Given the description of an element on the screen output the (x, y) to click on. 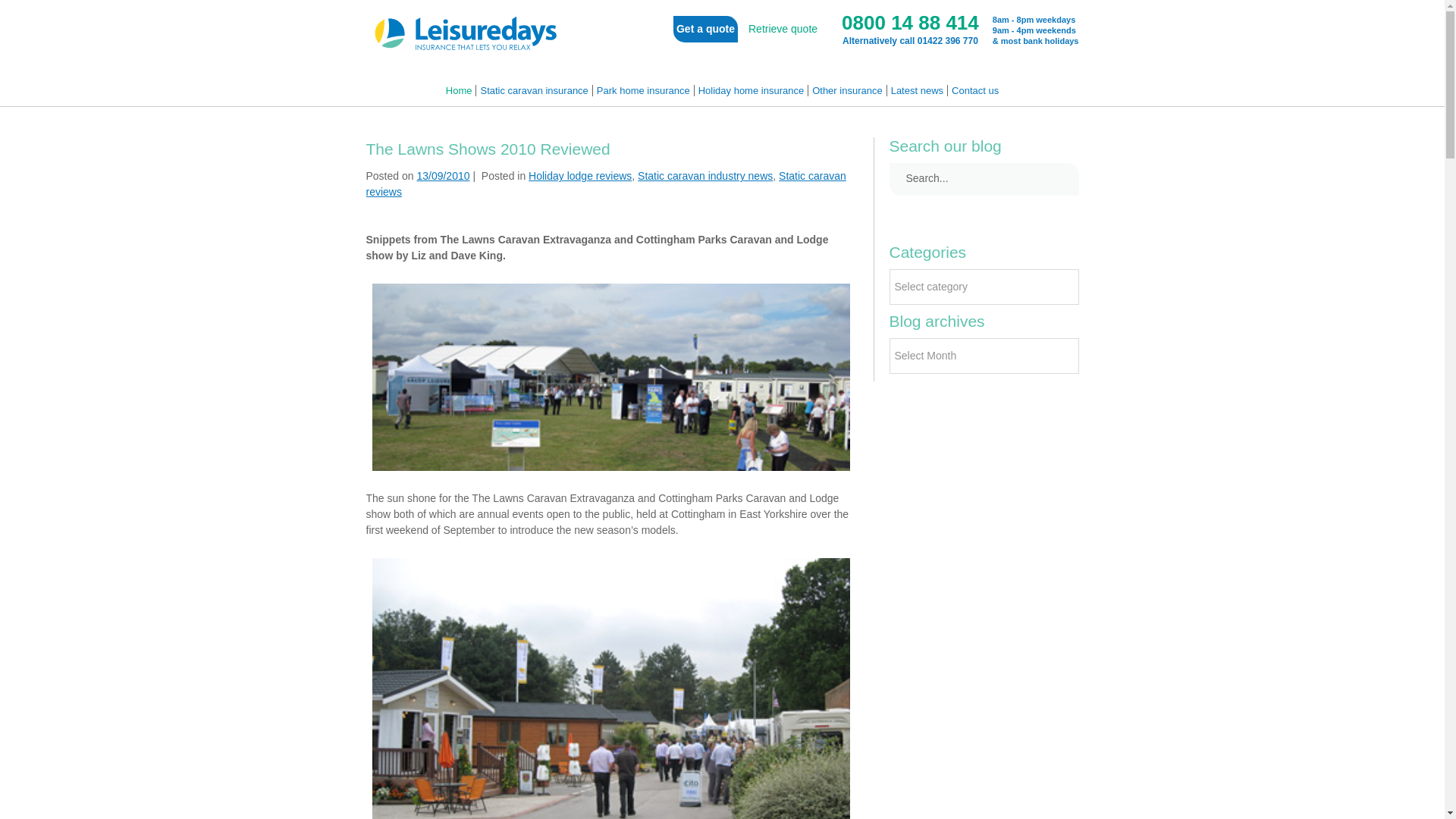
lawns-2010-review-public-days (610, 377)
lawns-2010-review-trade-days (610, 686)
Search (1058, 179)
